Given the description of an element on the screen output the (x, y) to click on. 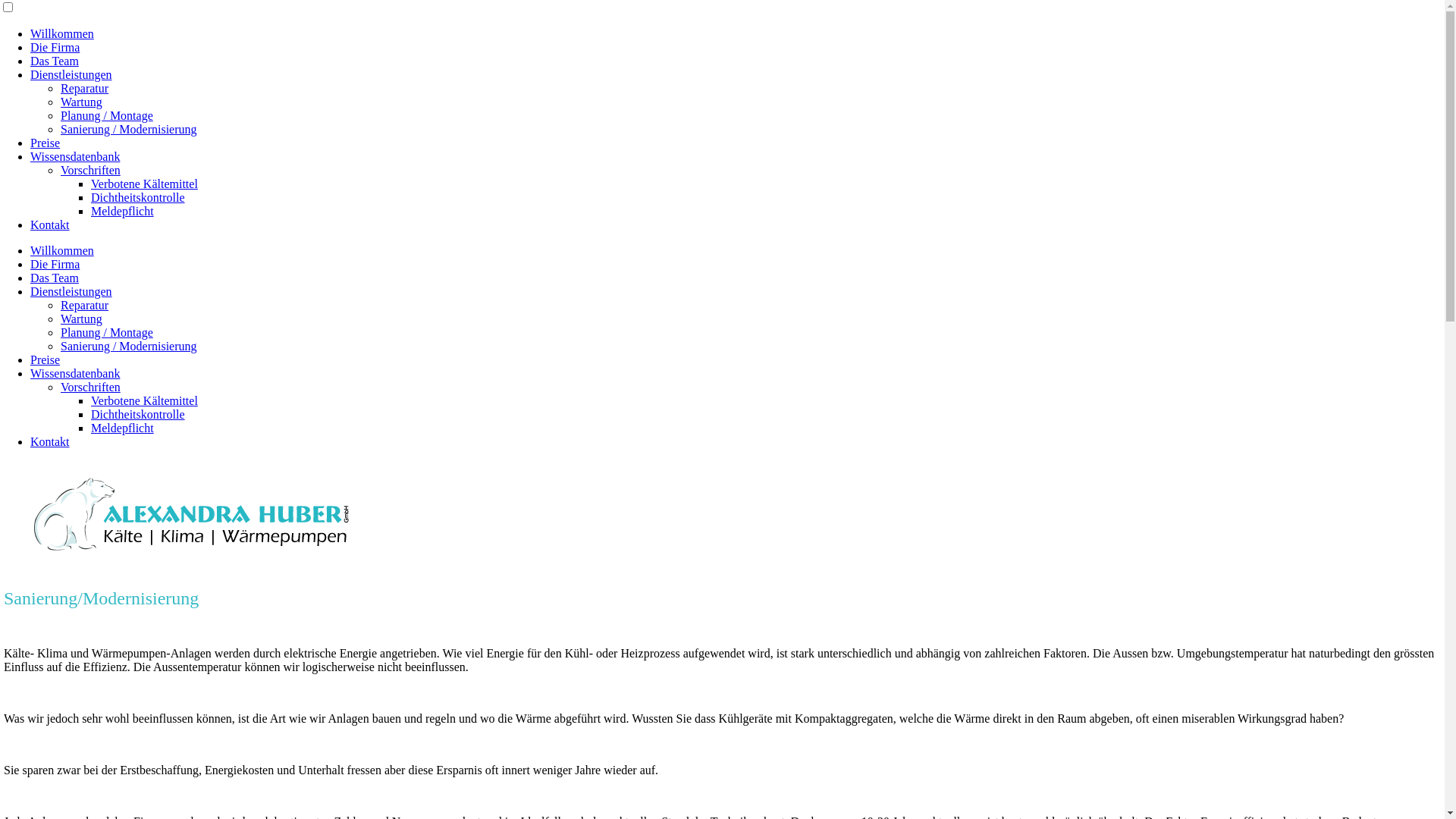
Vorschriften Element type: text (90, 386)
Willkommen Element type: text (62, 33)
Dichtheitskontrolle Element type: text (138, 413)
Dichtheitskontrolle Element type: text (138, 197)
Wartung Element type: text (81, 101)
Preise Element type: text (44, 359)
Planung / Montage Element type: text (106, 115)
Wartung Element type: text (81, 318)
Preise Element type: text (44, 142)
Das Team Element type: text (54, 277)
Kontakt Element type: text (49, 441)
Sanierung / Modernisierung Element type: text (128, 345)
Meldepflicht Element type: text (122, 210)
Dienstleistungen Element type: text (71, 291)
Kontakt Element type: text (49, 224)
Sanierung / Modernisierung Element type: text (128, 128)
Vorschriften Element type: text (90, 169)
Das Team Element type: text (54, 60)
Planung / Montage Element type: text (106, 332)
Wissensdatenbank Element type: text (74, 156)
Die Firma Element type: text (54, 263)
Reparatur Element type: text (84, 87)
Die Firma Element type: text (54, 46)
Reparatur Element type: text (84, 304)
Wissensdatenbank Element type: text (74, 373)
Willkommen Element type: text (62, 250)
Dienstleistungen Element type: text (71, 74)
Meldepflicht Element type: text (122, 427)
